Given the description of an element on the screen output the (x, y) to click on. 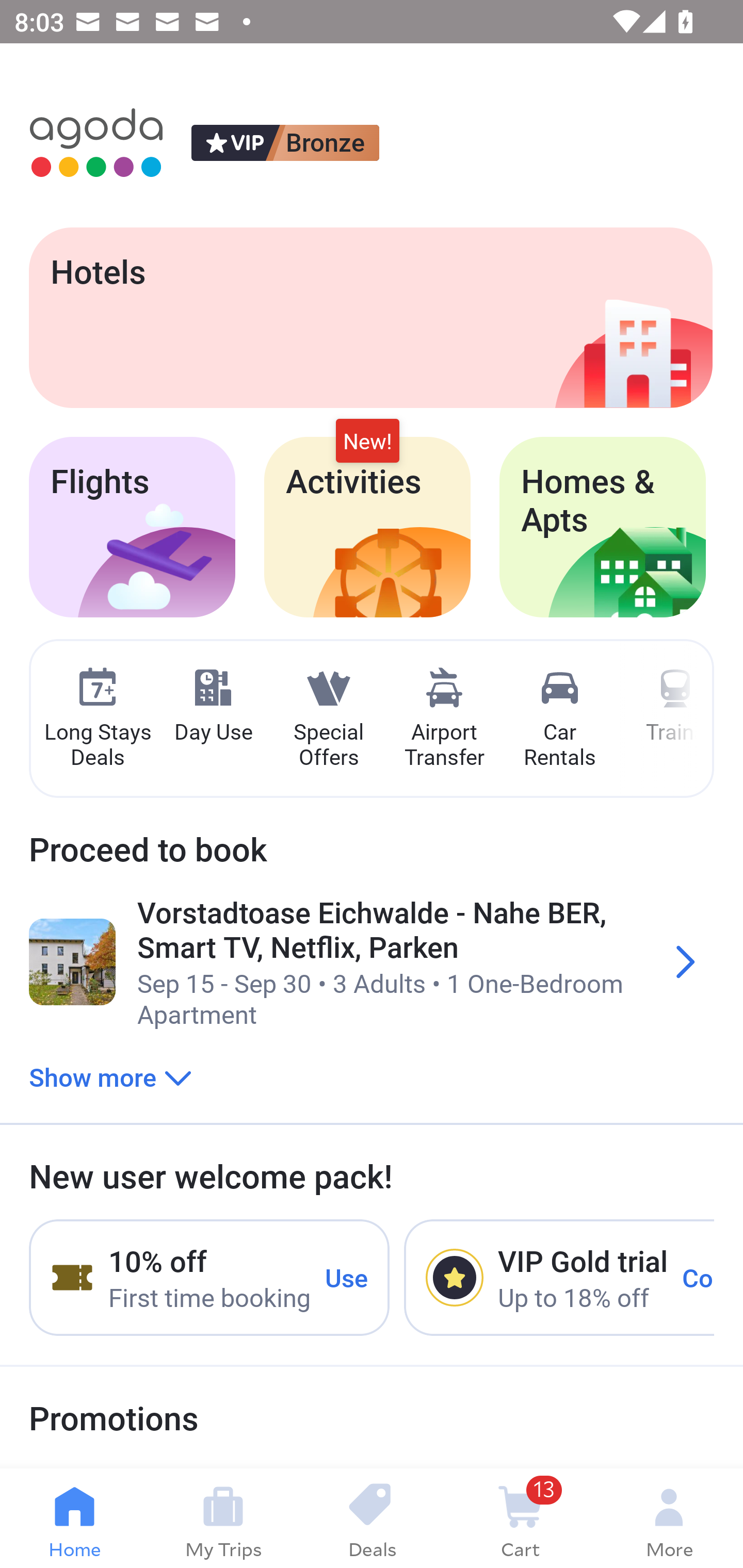
Hotels (370, 317)
New! (367, 441)
Flights (131, 527)
Activities (367, 527)
Homes & Apts (602, 527)
Day Use (213, 706)
Long Stays Deals (97, 718)
Special Offers (328, 718)
Airport Transfer (444, 718)
Car Rentals (559, 718)
Show more (110, 1076)
Use (346, 1277)
Home (74, 1518)
My Trips (222, 1518)
Deals (371, 1518)
13 Cart (519, 1518)
More (668, 1518)
